Given the description of an element on the screen output the (x, y) to click on. 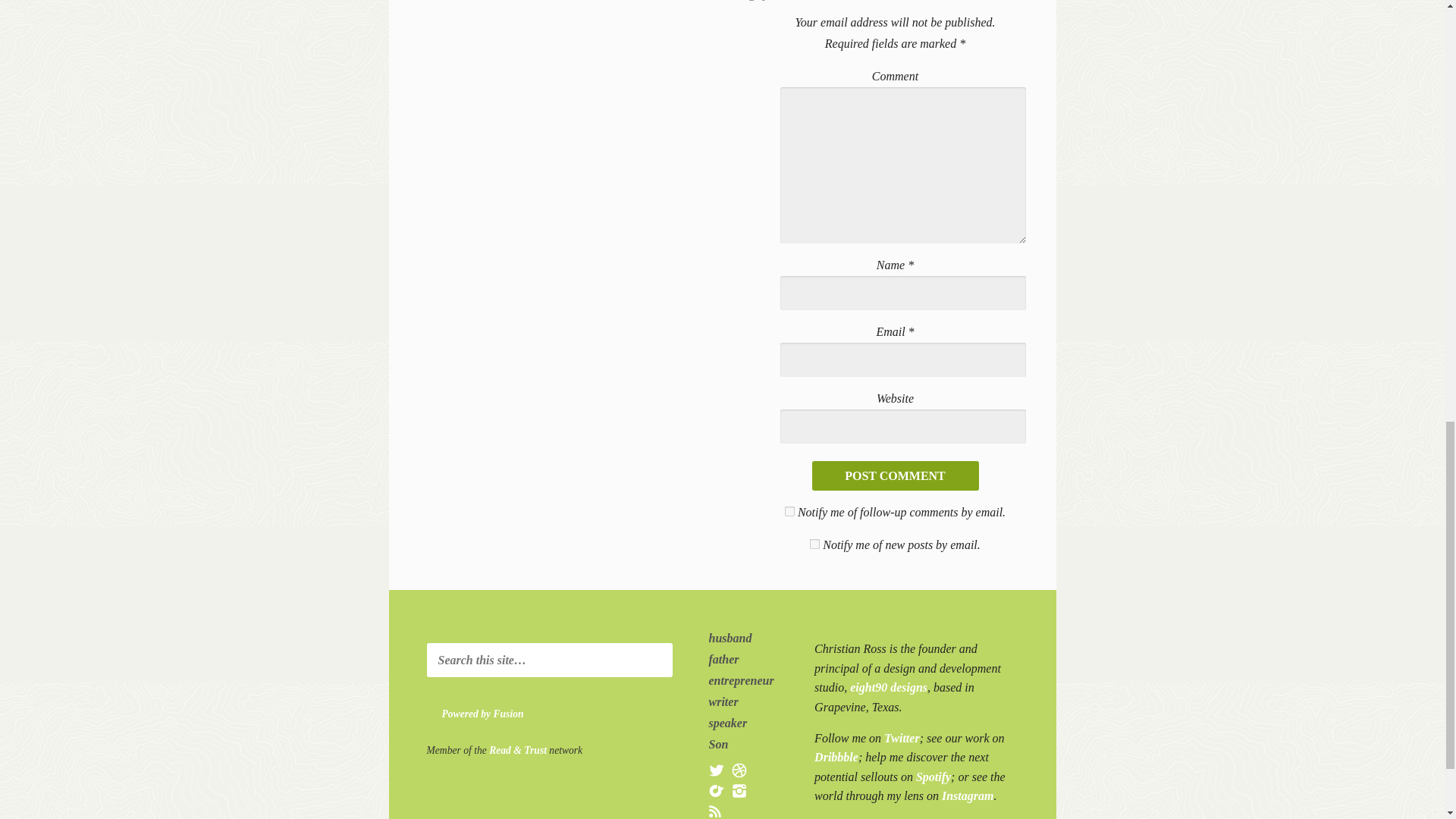
Powered by Fusion (505, 713)
subscribe (814, 543)
Twitter (901, 738)
Subscribe to this blog through RSS (715, 811)
subscribe (789, 511)
eight90 designs (888, 686)
Post Comment (894, 475)
Spotify (932, 776)
Instagram (967, 795)
subscribe to christianross.net (715, 811)
